Given the description of an element on the screen output the (x, y) to click on. 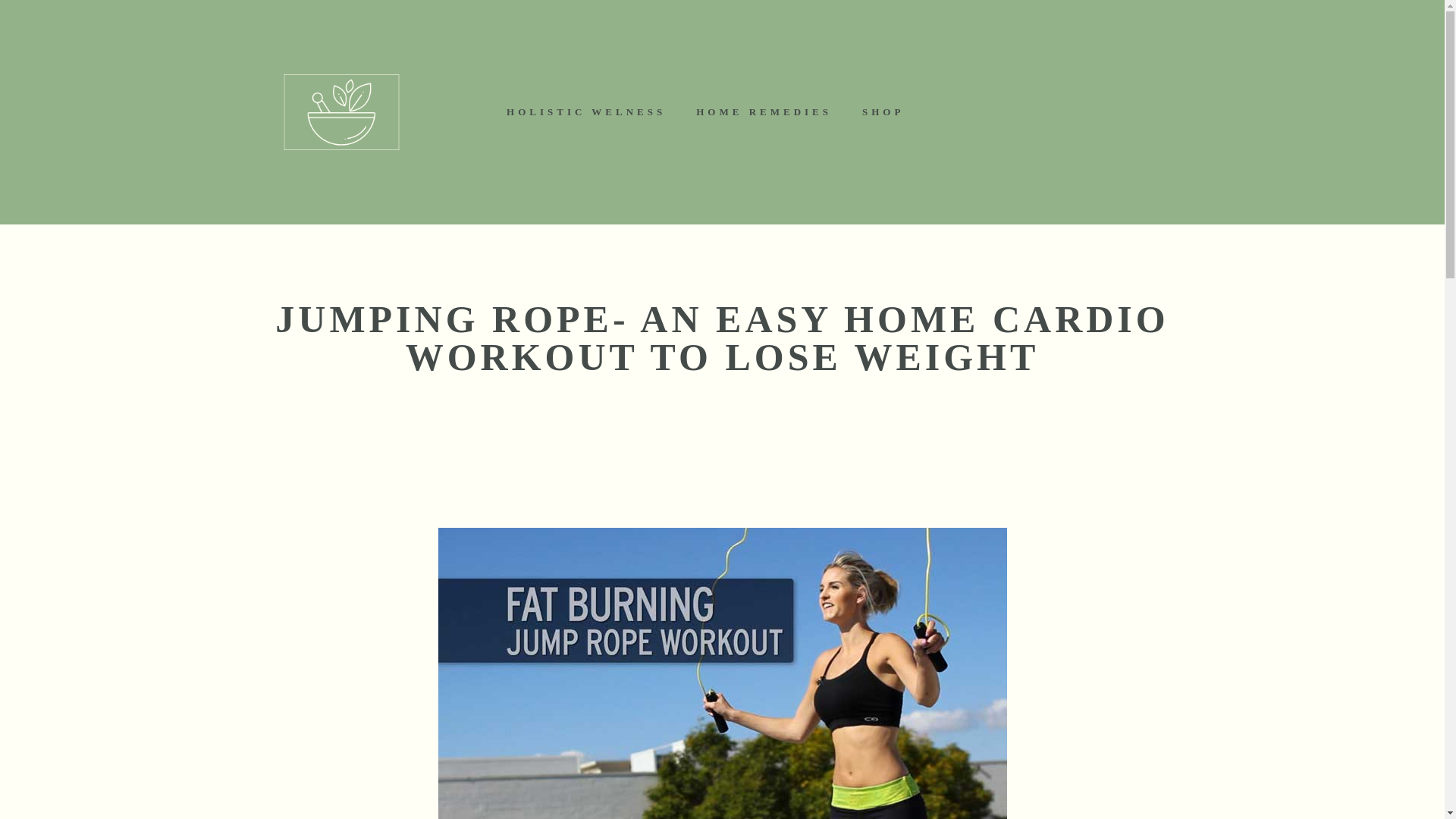
HOLISTIC WELNESS (586, 111)
SHOP (882, 111)
HOME REMEDIES (764, 111)
